Given the description of an element on the screen output the (x, y) to click on. 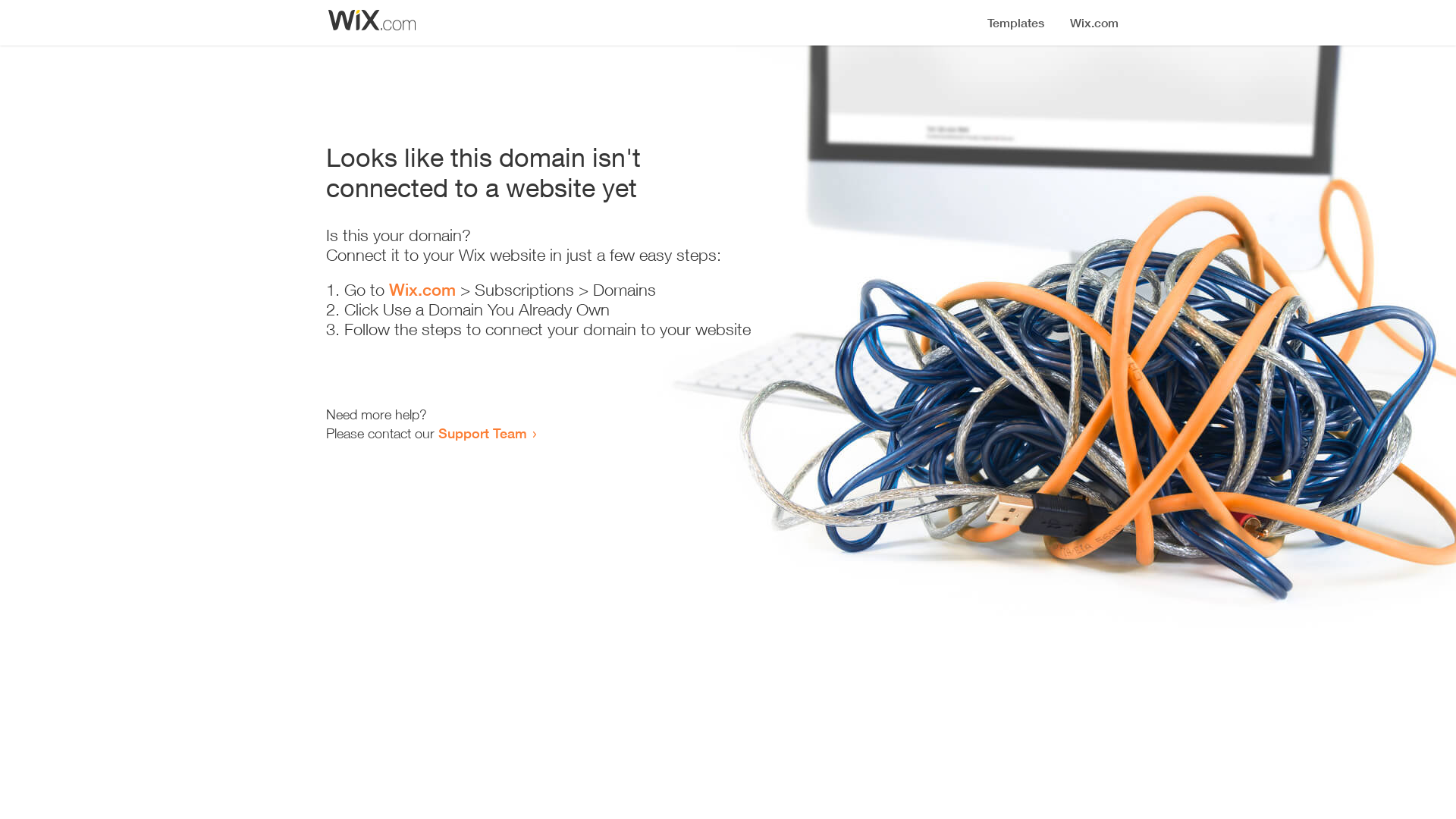
Support Team Element type: text (482, 432)
Wix.com Element type: text (422, 289)
